Given the description of an element on the screen output the (x, y) to click on. 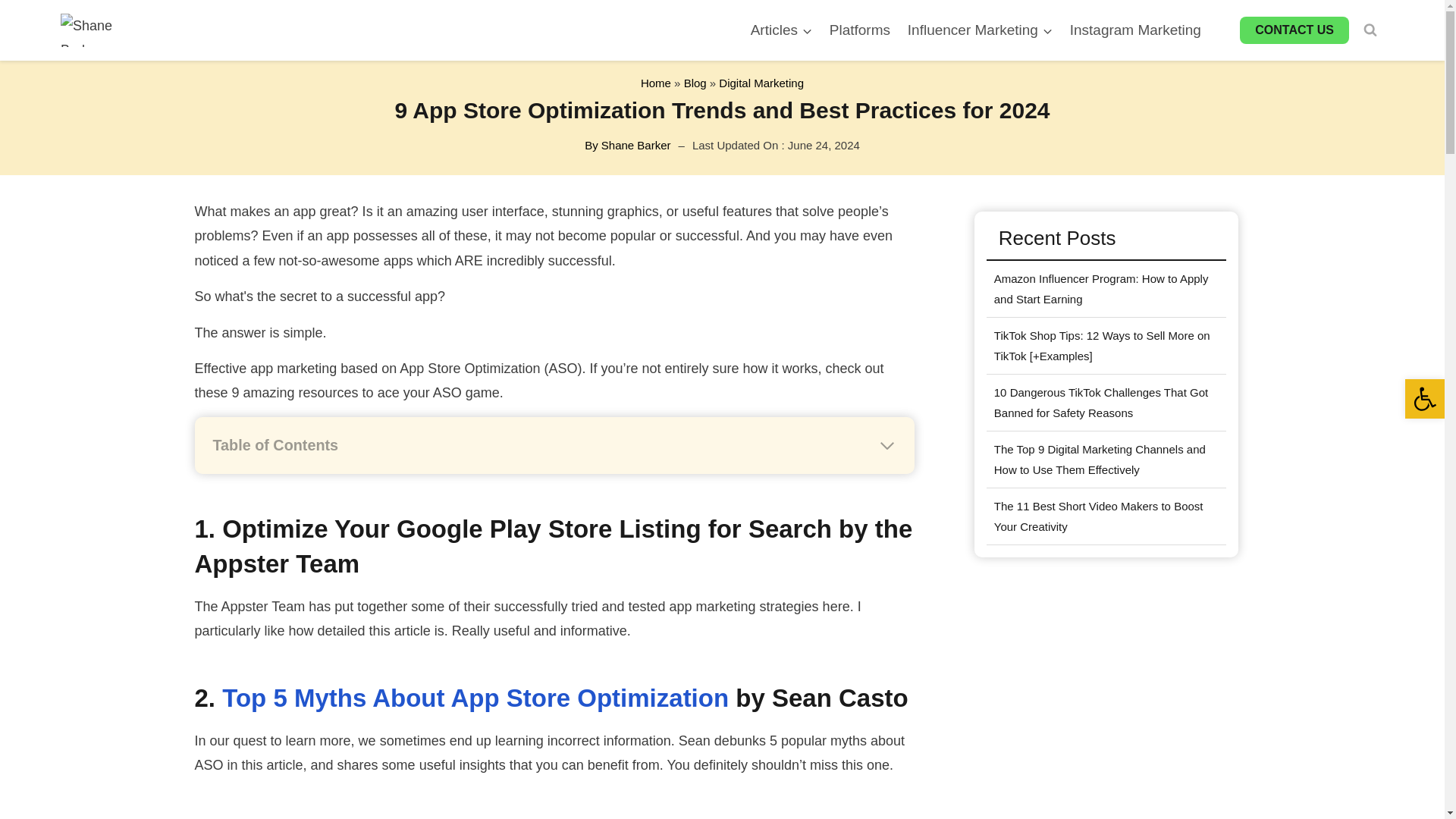
Home (655, 82)
CONTACT US (1294, 30)
Accessibility Tools (1424, 398)
Table of Contents (553, 445)
Influencer Marketing (979, 30)
Instagram Marketing (1135, 30)
Table of Contents (553, 445)
Articles (781, 30)
Platforms (859, 30)
Digital Marketing (761, 82)
